Given the description of an element on the screen output the (x, y) to click on. 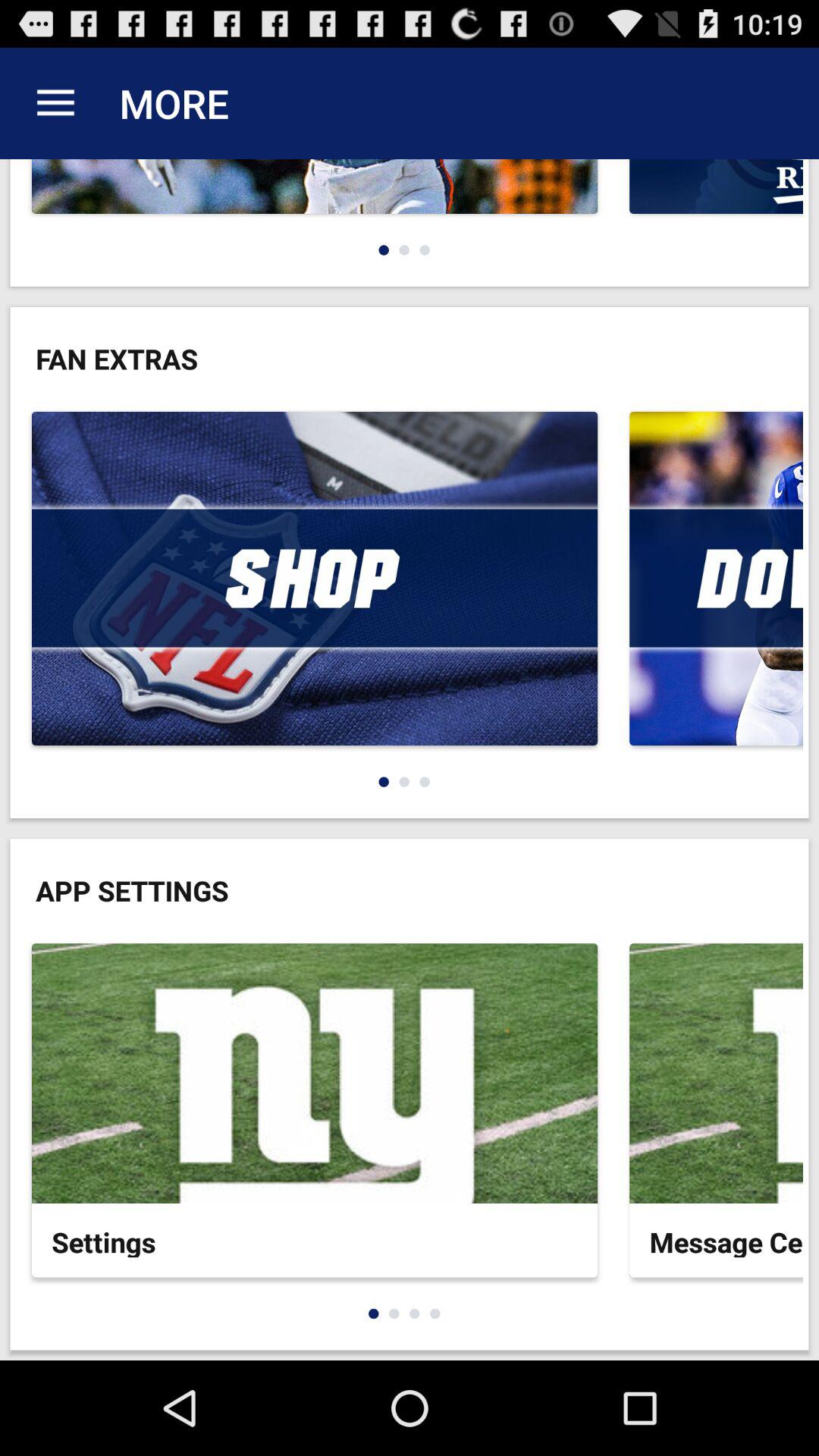
open the app next to more (55, 103)
